Given the description of an element on the screen output the (x, y) to click on. 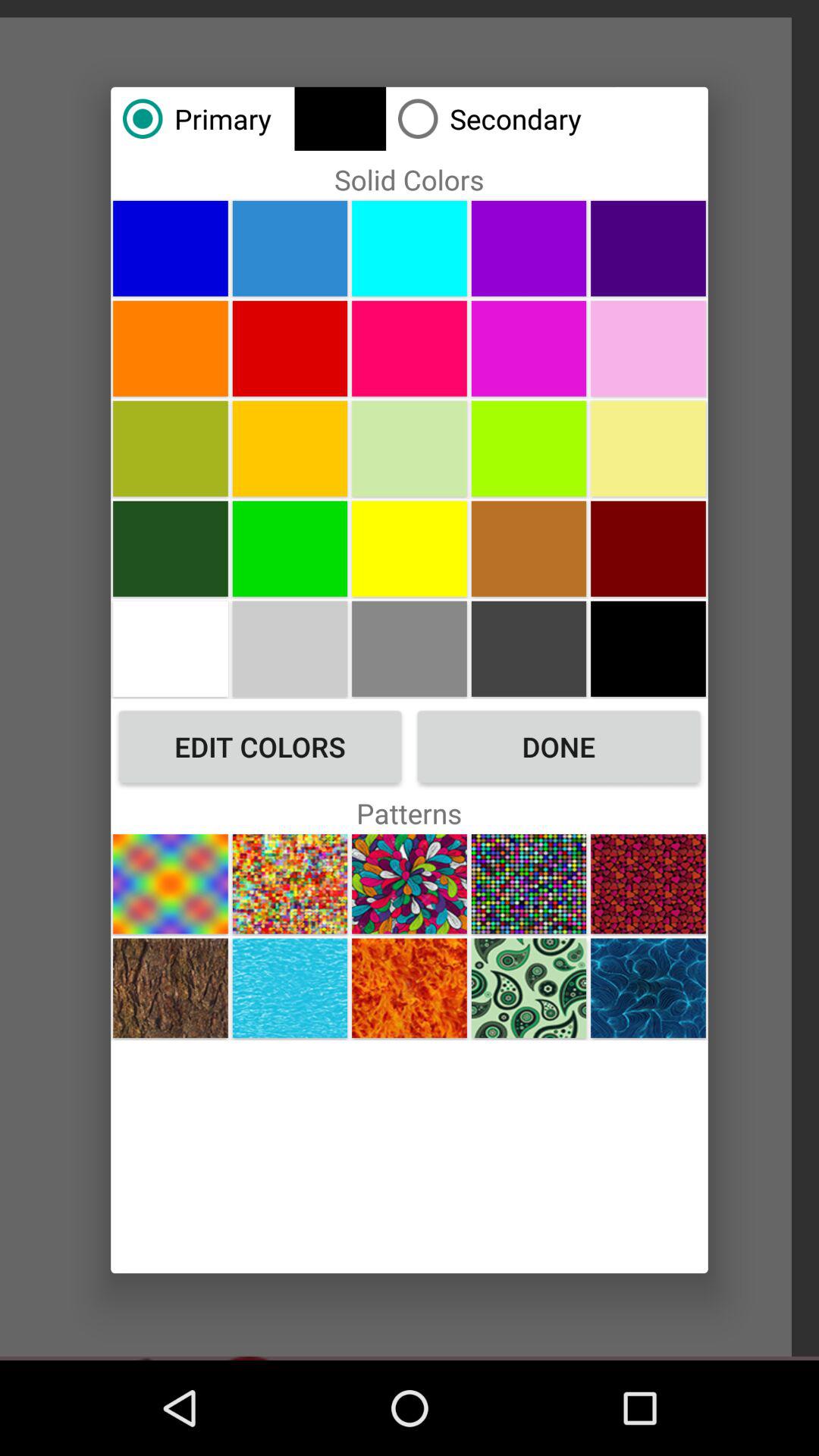
select a pattern (170, 883)
